Given the description of an element on the screen output the (x, y) to click on. 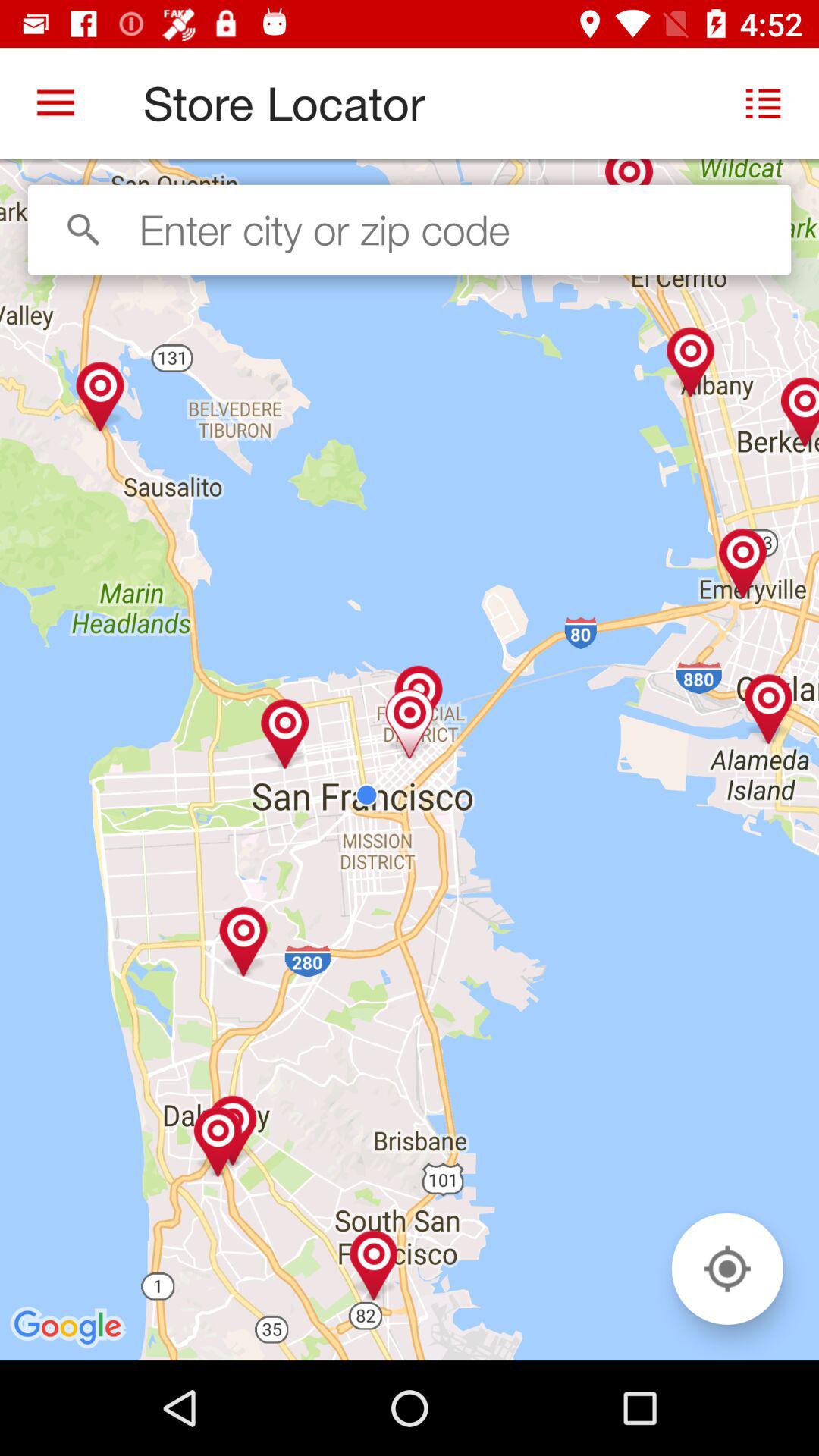
launch item next to the store locator (55, 103)
